Given the description of an element on the screen output the (x, y) to click on. 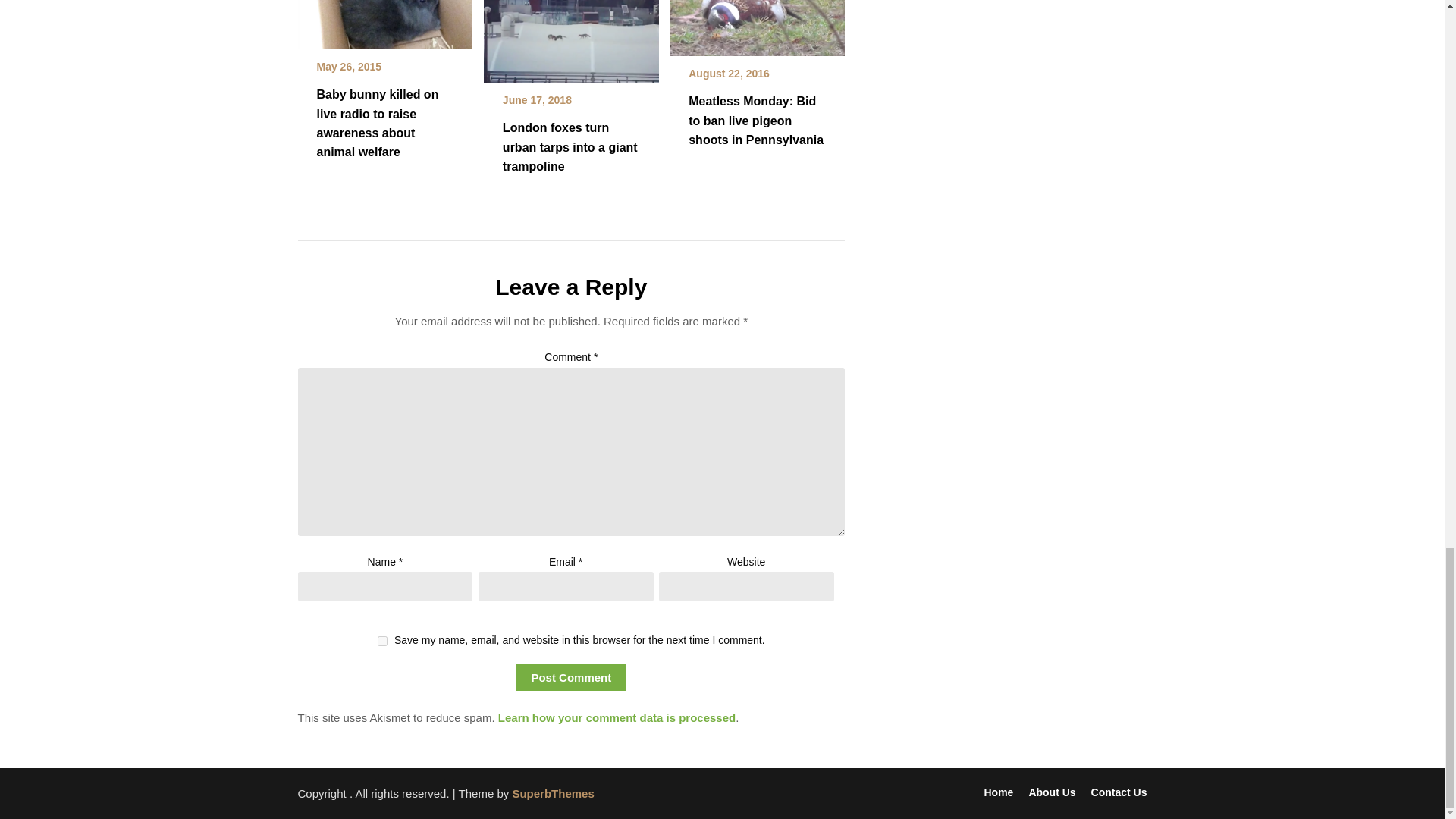
London foxes turn urban tarps into a giant trampoline (571, 15)
Post Comment (570, 677)
London foxes turn urban tarps into a giant trampoline (569, 146)
yes (382, 641)
